Given the description of an element on the screen output the (x, y) to click on. 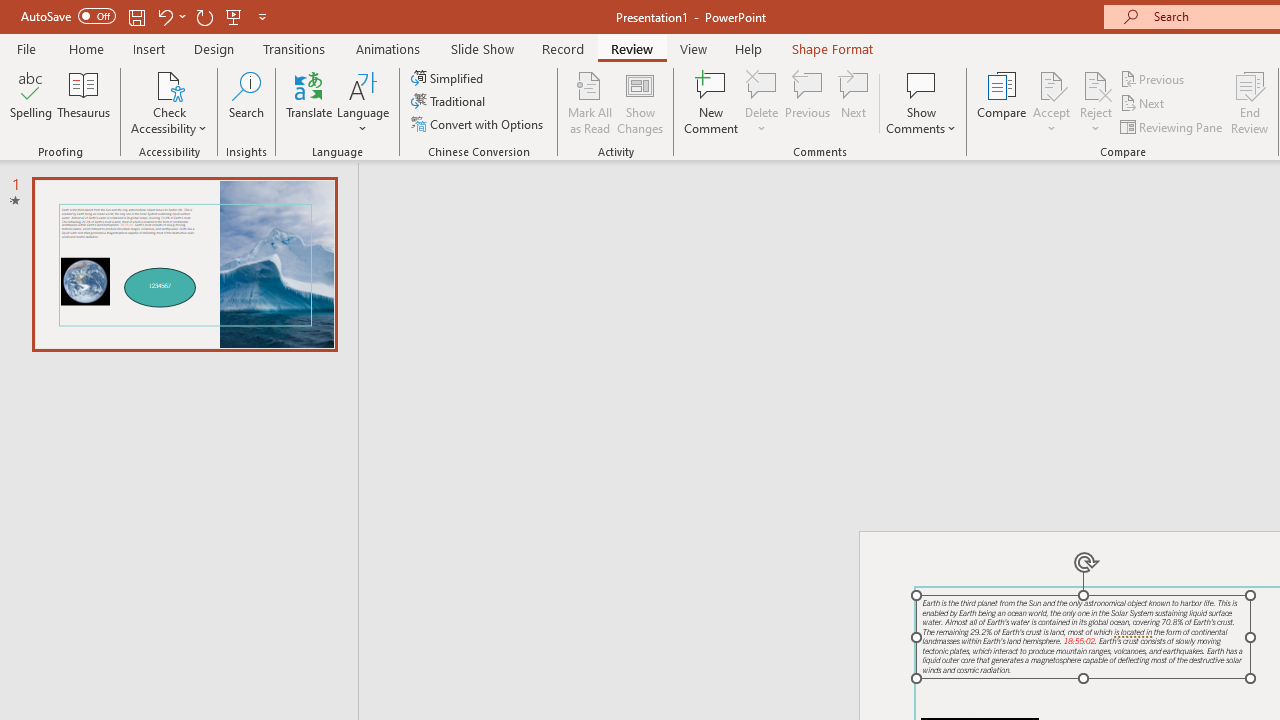
Compare (1002, 102)
Accept Change (1051, 84)
Mark All as Read (589, 102)
Language (363, 102)
Reject (1096, 102)
